Given the description of an element on the screen output the (x, y) to click on. 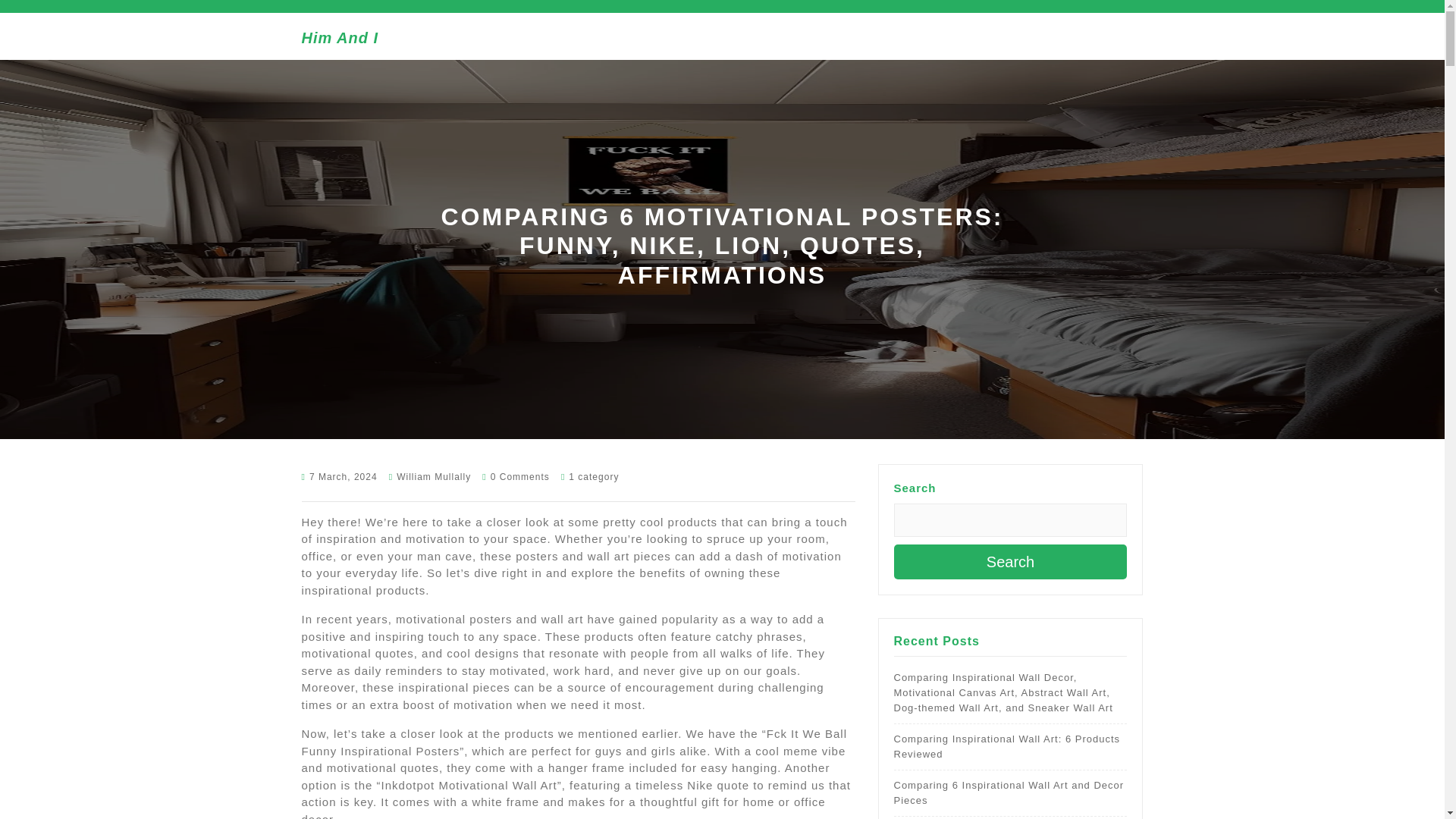
Comparing 6 Inspirational Wall Art and Decor Pieces (1008, 792)
Comparing Inspirational Wall Art: 6 Products Reviewed (1006, 746)
Search (1009, 561)
Him And I (339, 37)
